Given the description of an element on the screen output the (x, y) to click on. 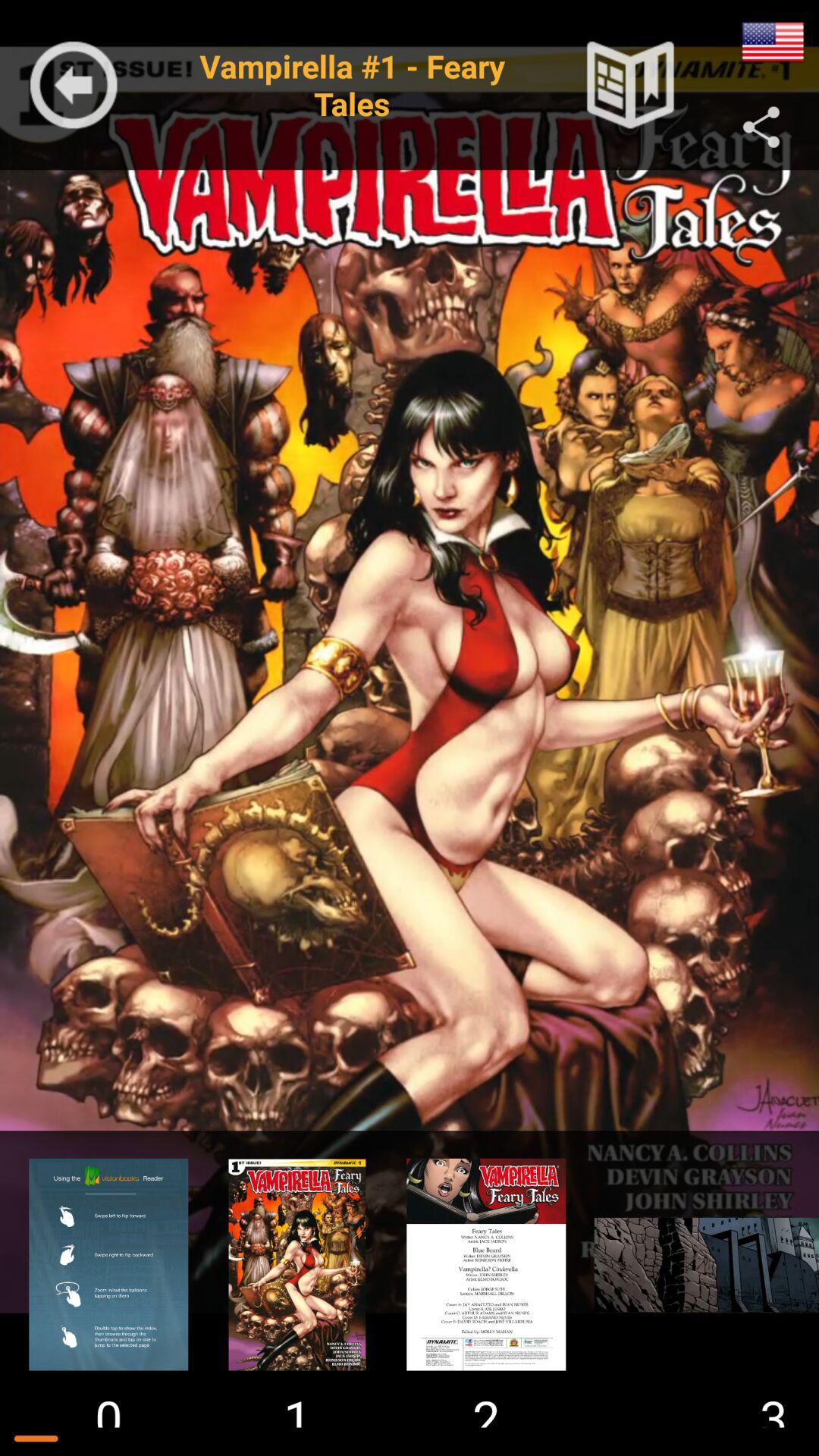
view preview screen (296, 1264)
